Given the description of an element on the screen output the (x, y) to click on. 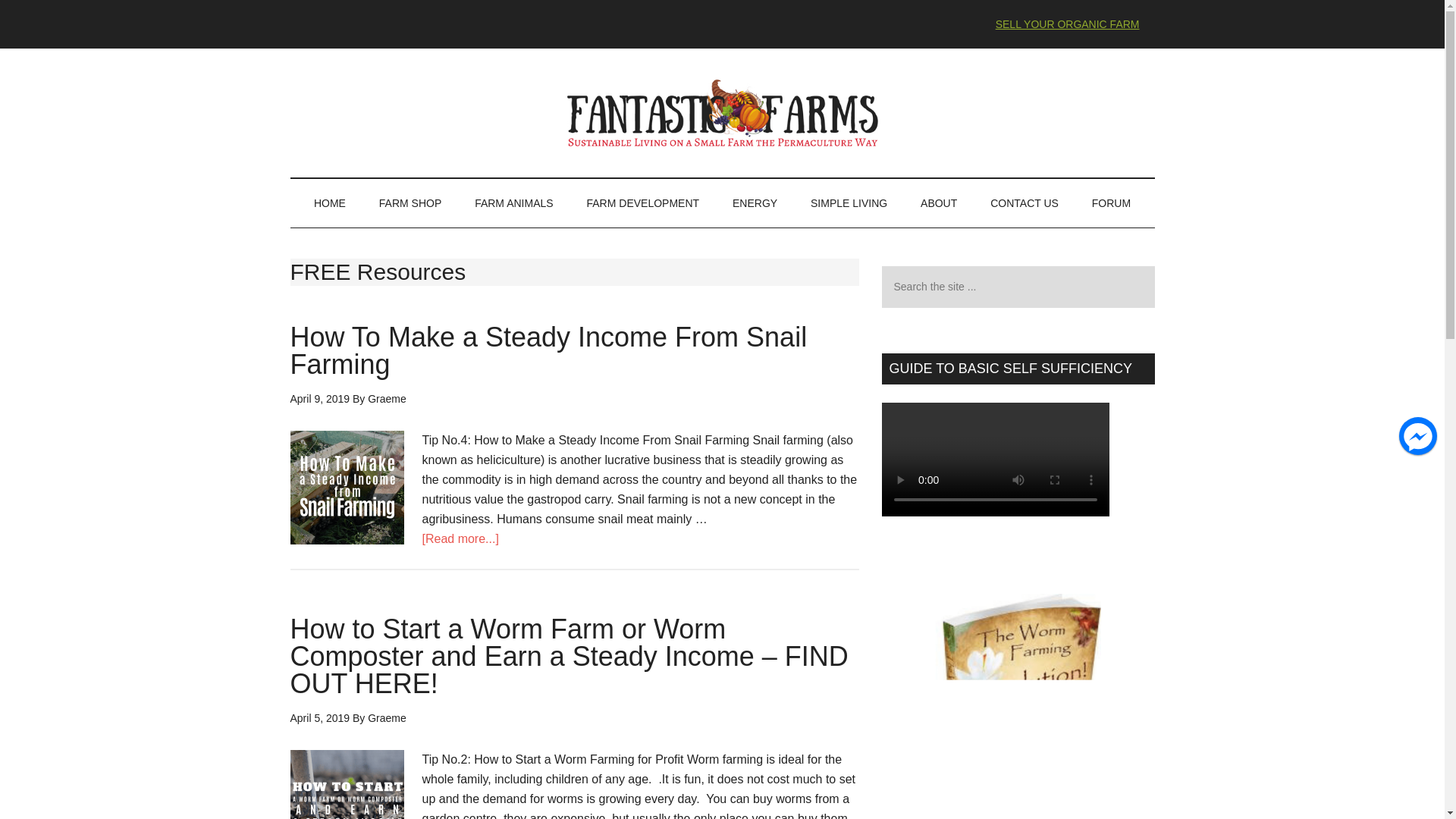
SIMPLE LIVING (848, 203)
ABOUT (938, 203)
FARM ANIMALS (513, 203)
SELL YOUR ORGANIC FARM (1066, 24)
FARM DEVELOPMENT (643, 203)
Fantastic Farms (721, 112)
ENERGY (754, 203)
